Given the description of an element on the screen output the (x, y) to click on. 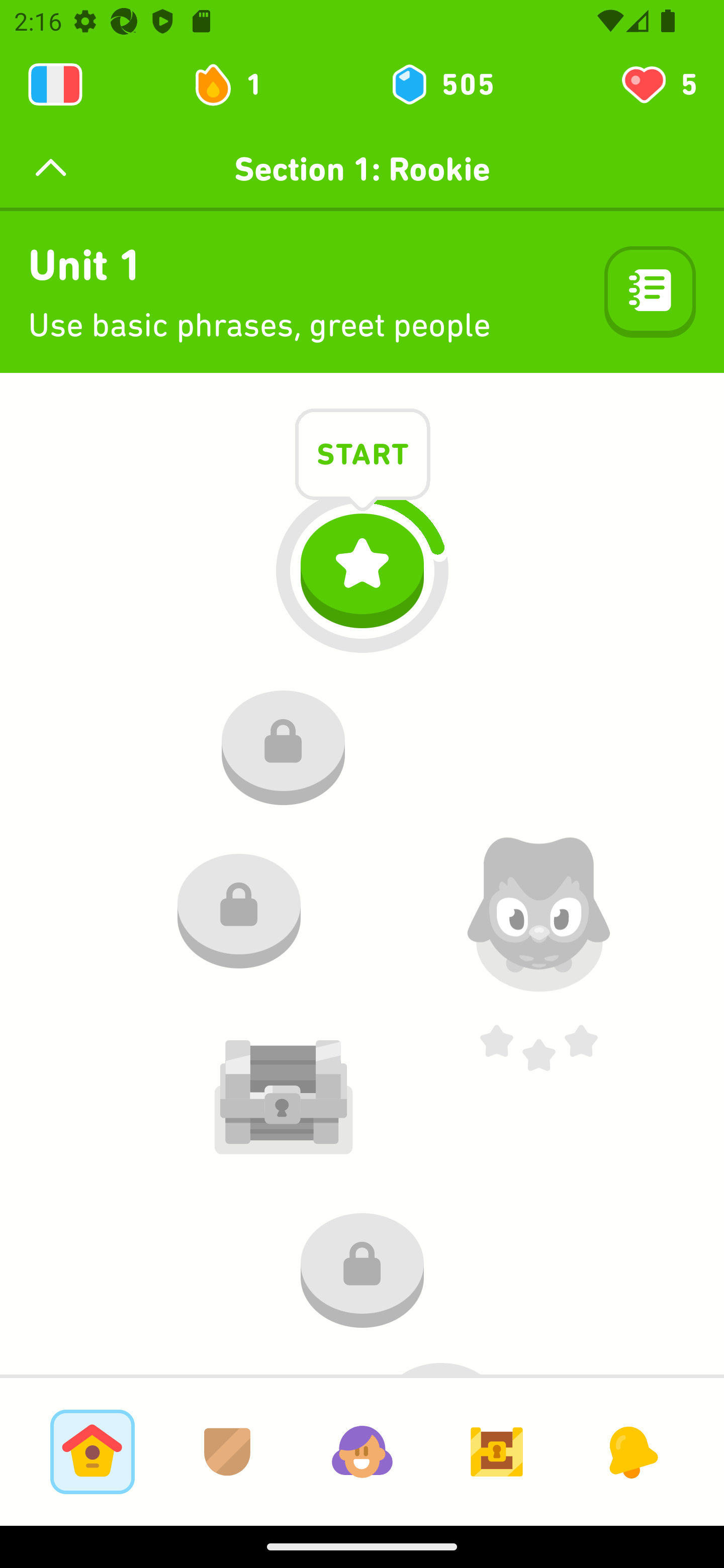
Learning 2131888976 (55, 84)
1 day streak 1 (236, 84)
505 (441, 84)
You have 5 hearts left 5 (657, 84)
Section 1: Rookie (362, 169)
START (362, 457)
Learn Tab (91, 1451)
Leagues Tab (227, 1451)
Profile Tab (361, 1451)
Goals Tab (496, 1451)
News Tab (631, 1451)
